Given the description of an element on the screen output the (x, y) to click on. 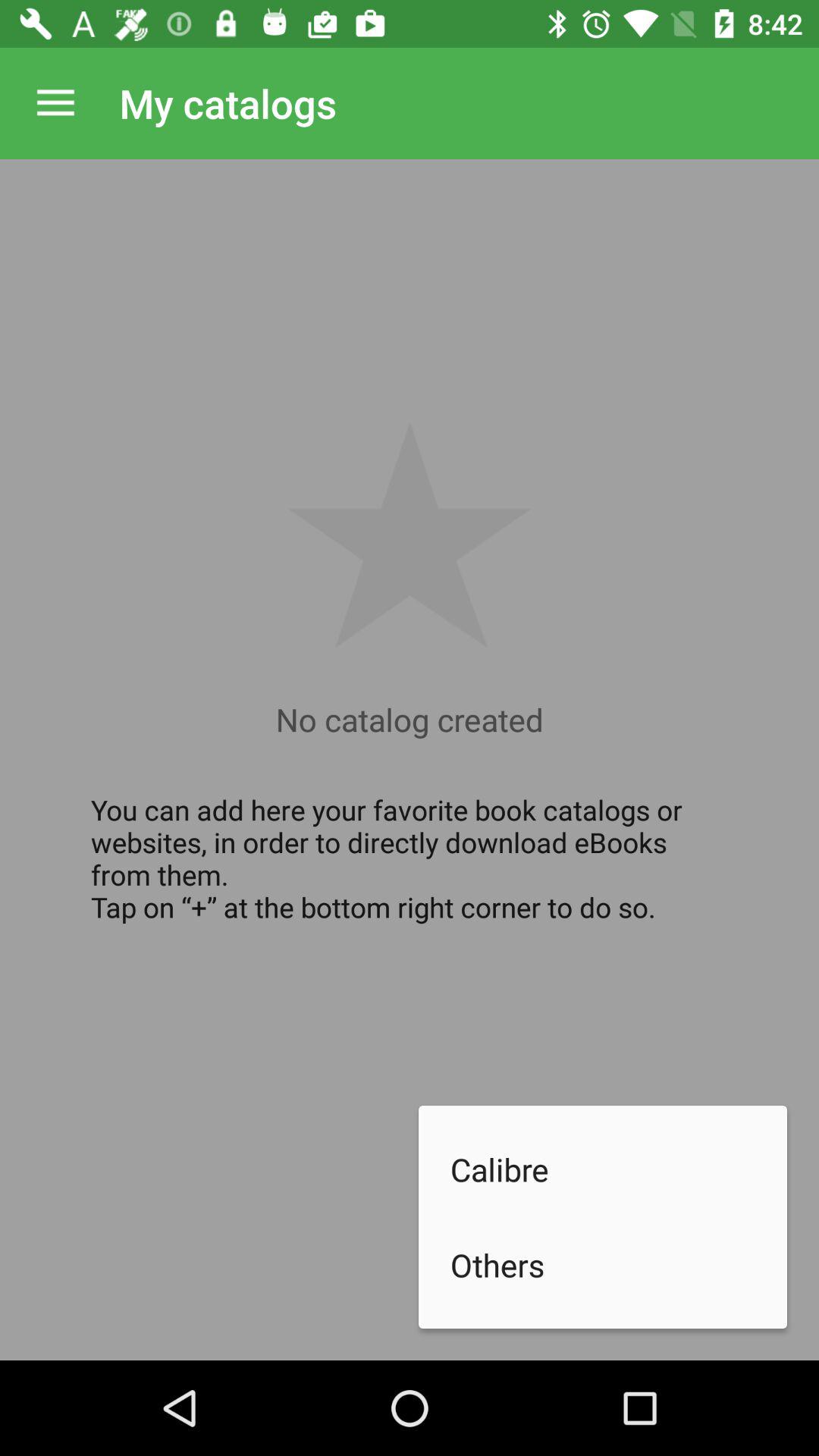
tap the calibre (618, 1169)
